Given the description of an element on the screen output the (x, y) to click on. 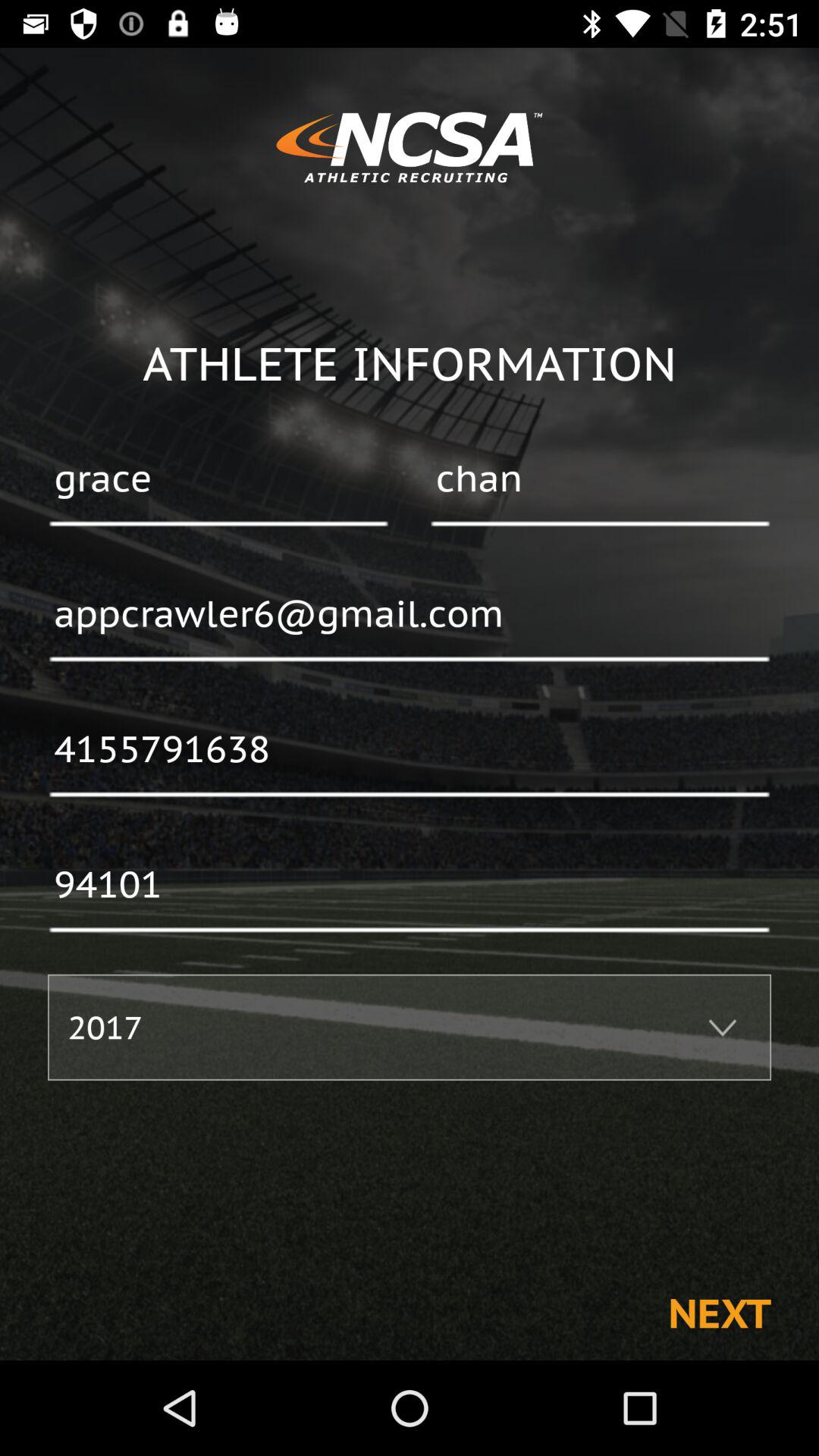
press the icon above the 4155791638 item (409, 615)
